Given the description of an element on the screen output the (x, y) to click on. 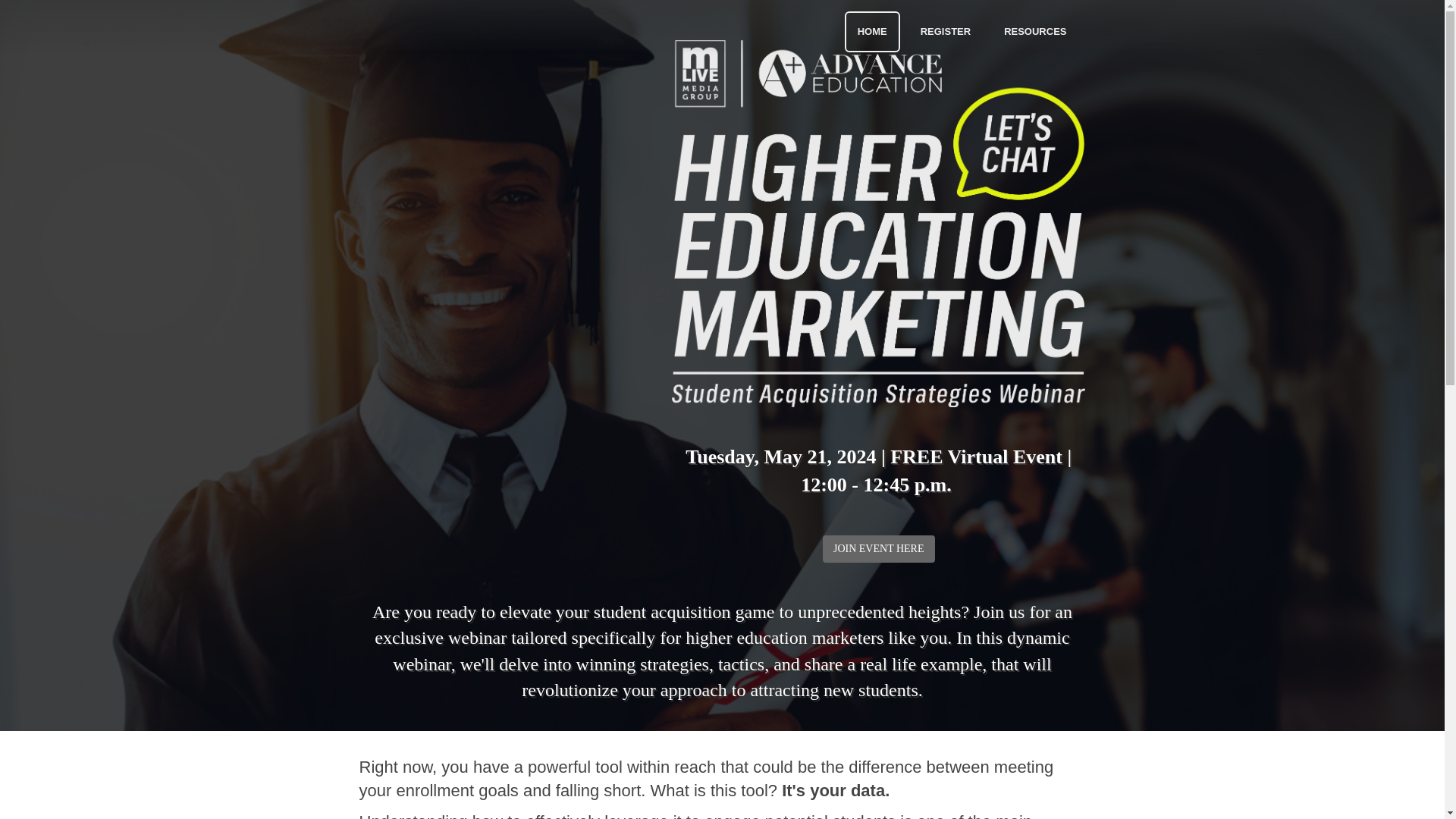
HOME (871, 31)
RESOURCES (1034, 31)
JOIN EVENT HERE (878, 548)
REGISTER (945, 31)
